Given the description of an element on the screen output the (x, y) to click on. 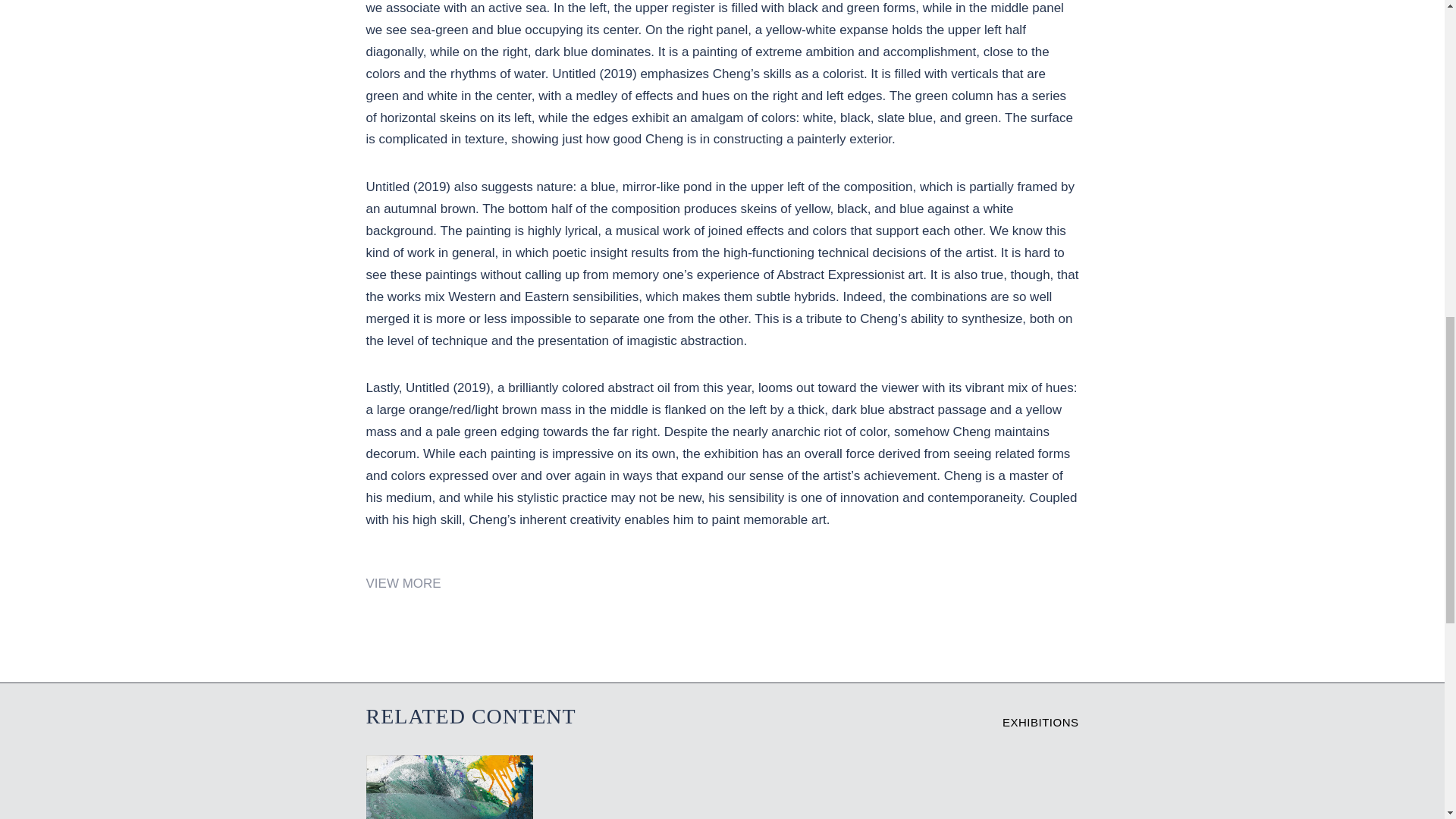
EXHIBITIONS (448, 787)
VIEW MORE (1040, 721)
